Given the description of an element on the screen output the (x, y) to click on. 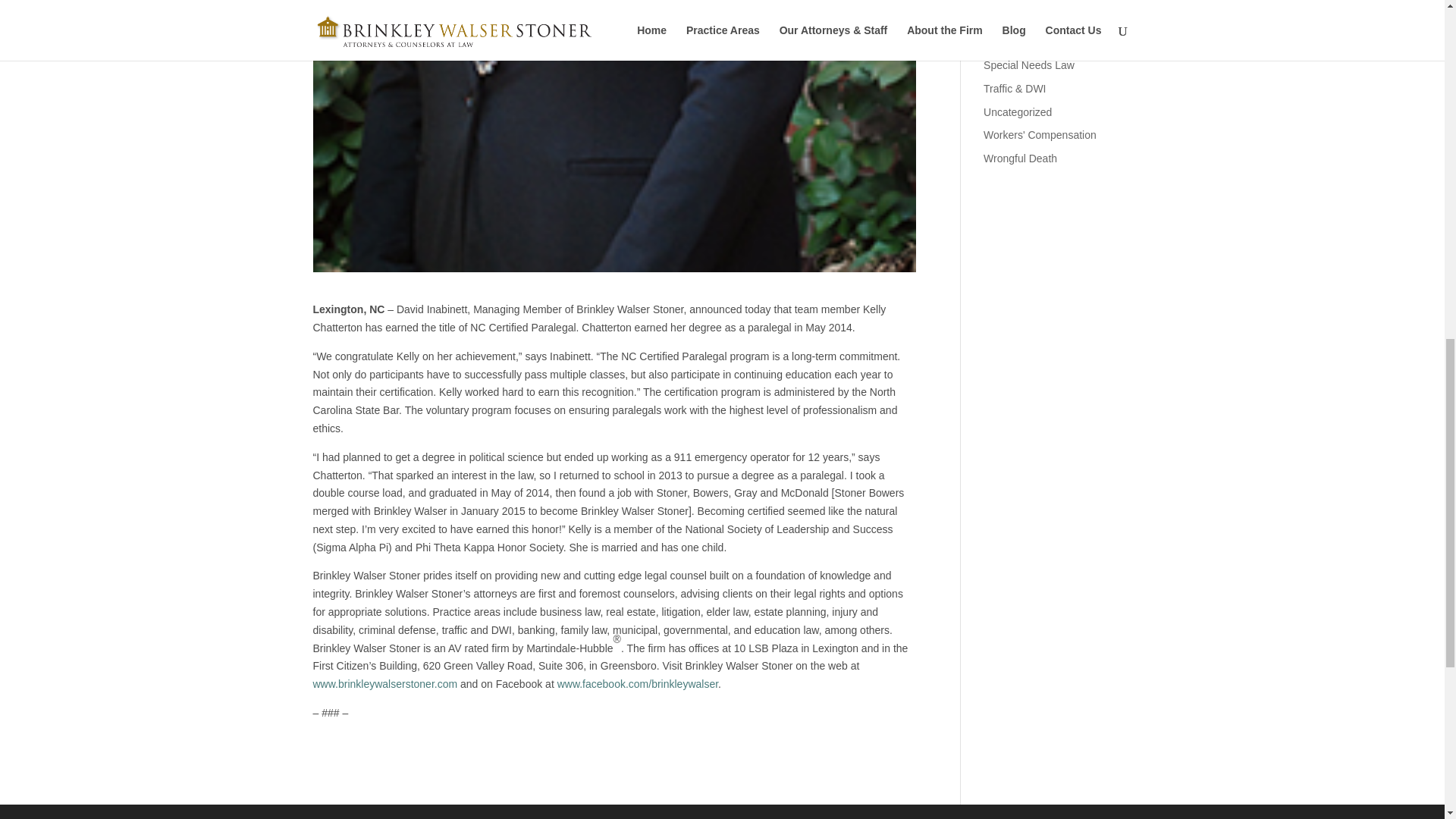
Uncategorized (1017, 111)
Workers' Compensation (1040, 134)
www.brinkleywalserstoner.com (385, 684)
Reverse Mortgages (1029, 18)
Real Estate Law (1022, 0)
Social Security (1019, 41)
Special Needs Law (1029, 64)
Wrongful Death (1020, 158)
